Given the description of an element on the screen output the (x, y) to click on. 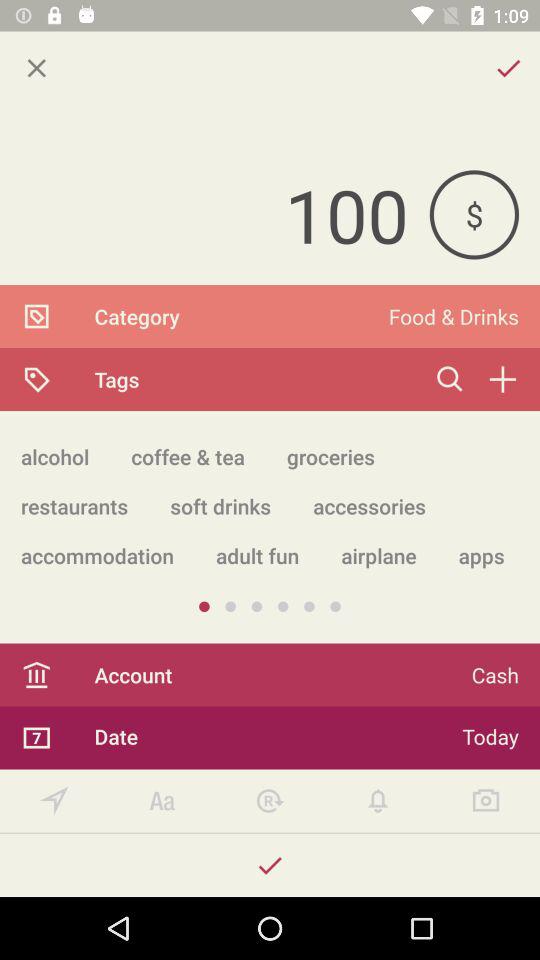
click on camera (486, 800)
